Given the description of an element on the screen output the (x, y) to click on. 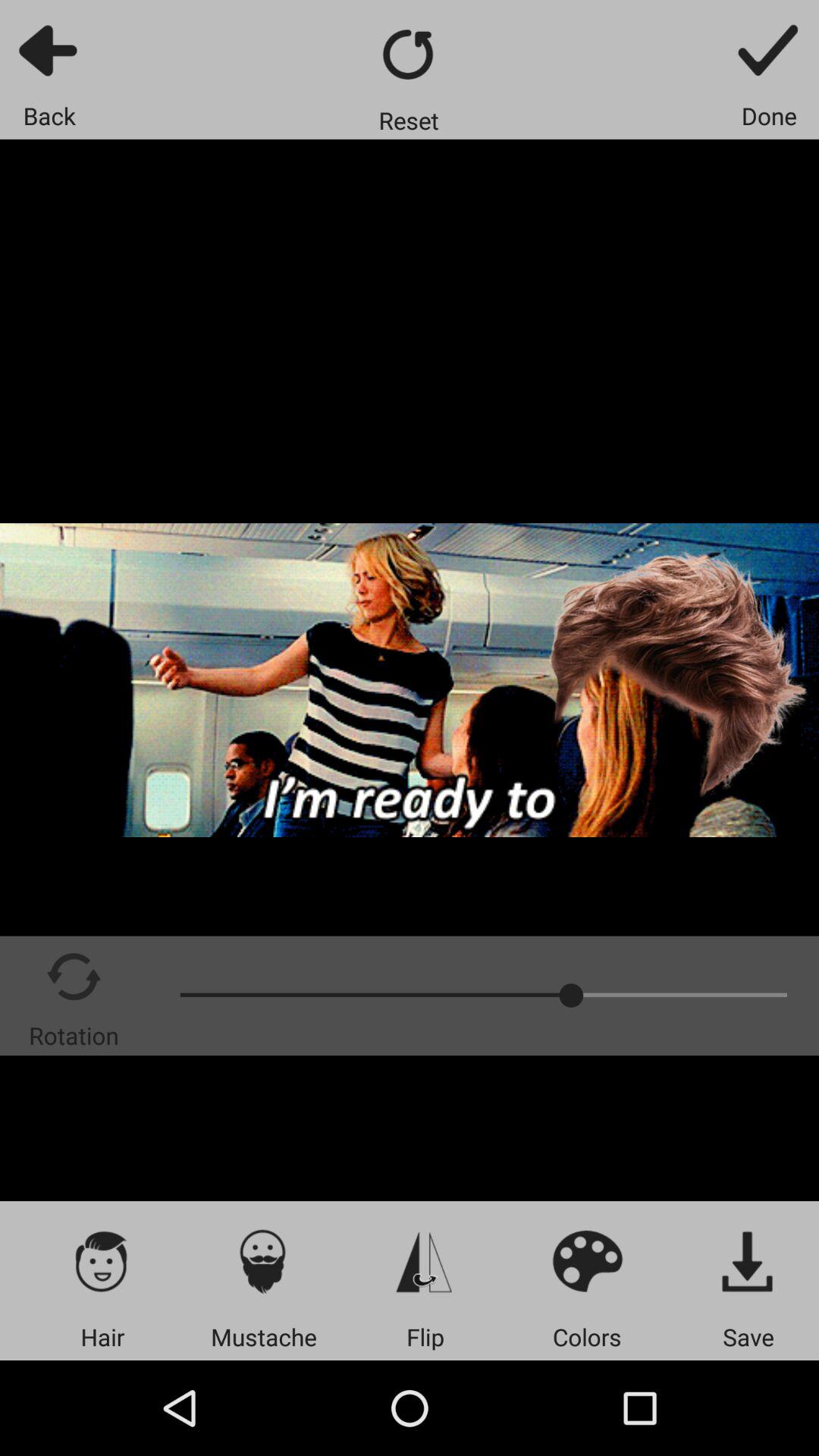
open the icon above the flip app (425, 1260)
